Given the description of an element on the screen output the (x, y) to click on. 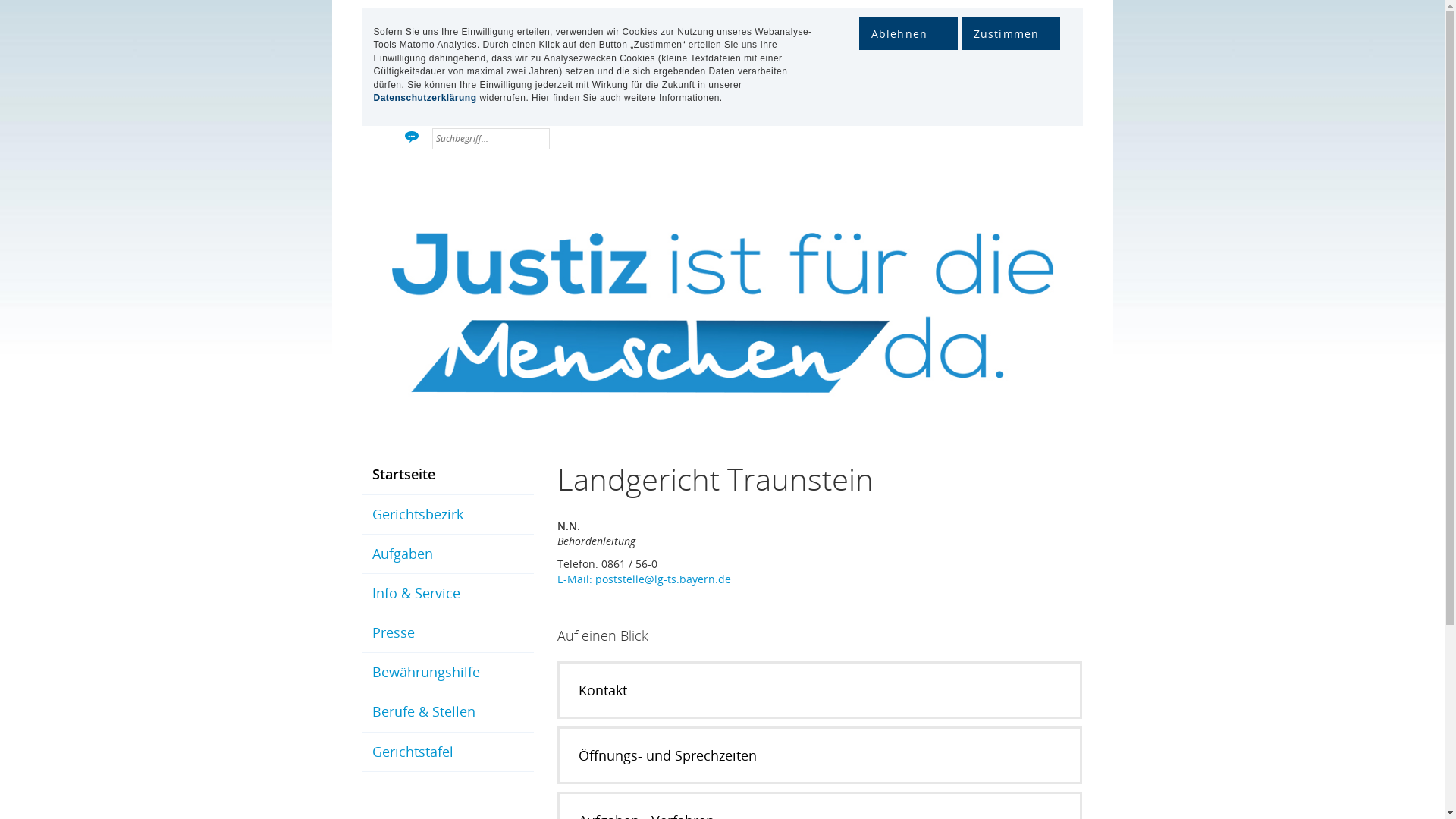
Suche starten Element type: hover (538, 143)
Gerichtstafel Element type: text (447, 751)
Zustimmen Element type: text (1010, 33)
Startseite Element type: text (447, 474)
Aufgaben Element type: text (447, 553)
Presse Element type: text (447, 632)
Info & Service Element type: text (447, 593)
Gerichtsbezirk Element type: text (447, 514)
Suchen Element type: text (538, 143)
E-Mail: poststelle@lg-ts.bayern.de Element type: text (644, 578)
Landgericht Traunstein Element type: text (949, 169)
Seite vorlesen lassen [Alt-L] Element type: hover (412, 137)
Leichte Sprache Element type: hover (390, 137)
Berufe & Stellen Element type: text (447, 711)
Kontakt Element type: text (819, 689)
Ablehnen Element type: text (907, 33)
